Given the description of an element on the screen output the (x, y) to click on. 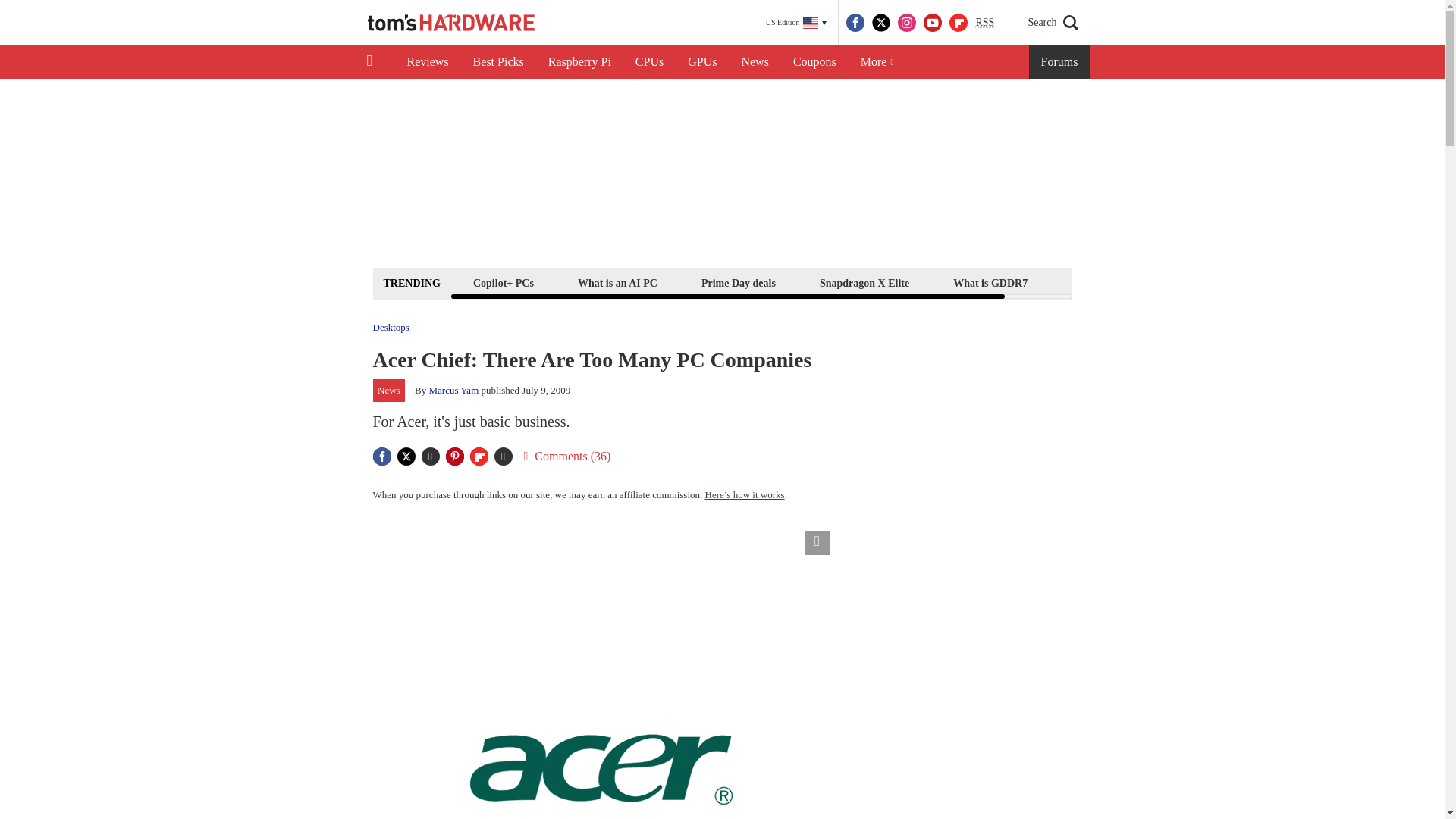
Reviews (427, 61)
GPUs (702, 61)
Coupons (814, 61)
Forums (1059, 61)
US Edition (796, 22)
Really Simple Syndication (984, 21)
RSS (984, 22)
News (754, 61)
Best Picks (498, 61)
Raspberry Pi (579, 61)
CPUs (649, 61)
